Given the description of an element on the screen output the (x, y) to click on. 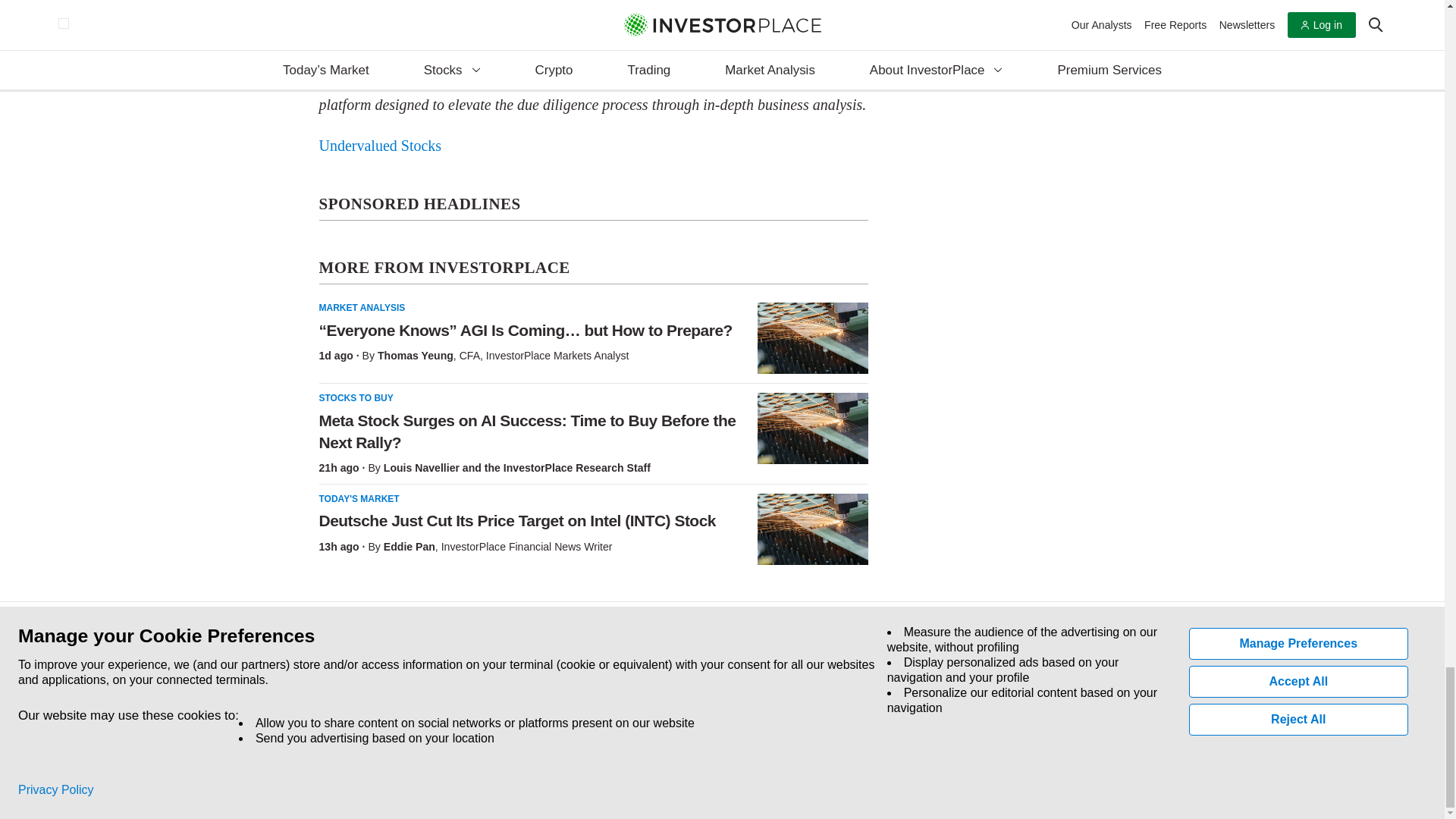
View profile of Thomas Yeung (414, 355)
Subscribe to our RSS feed (389, 711)
Articles from Undervalued Stocks stock type (379, 145)
Visit our Facebook Page (319, 711)
View profile of Eddie Pan (409, 546)
Visit our Twitter page (354, 711)
